Given the description of an element on the screen output the (x, y) to click on. 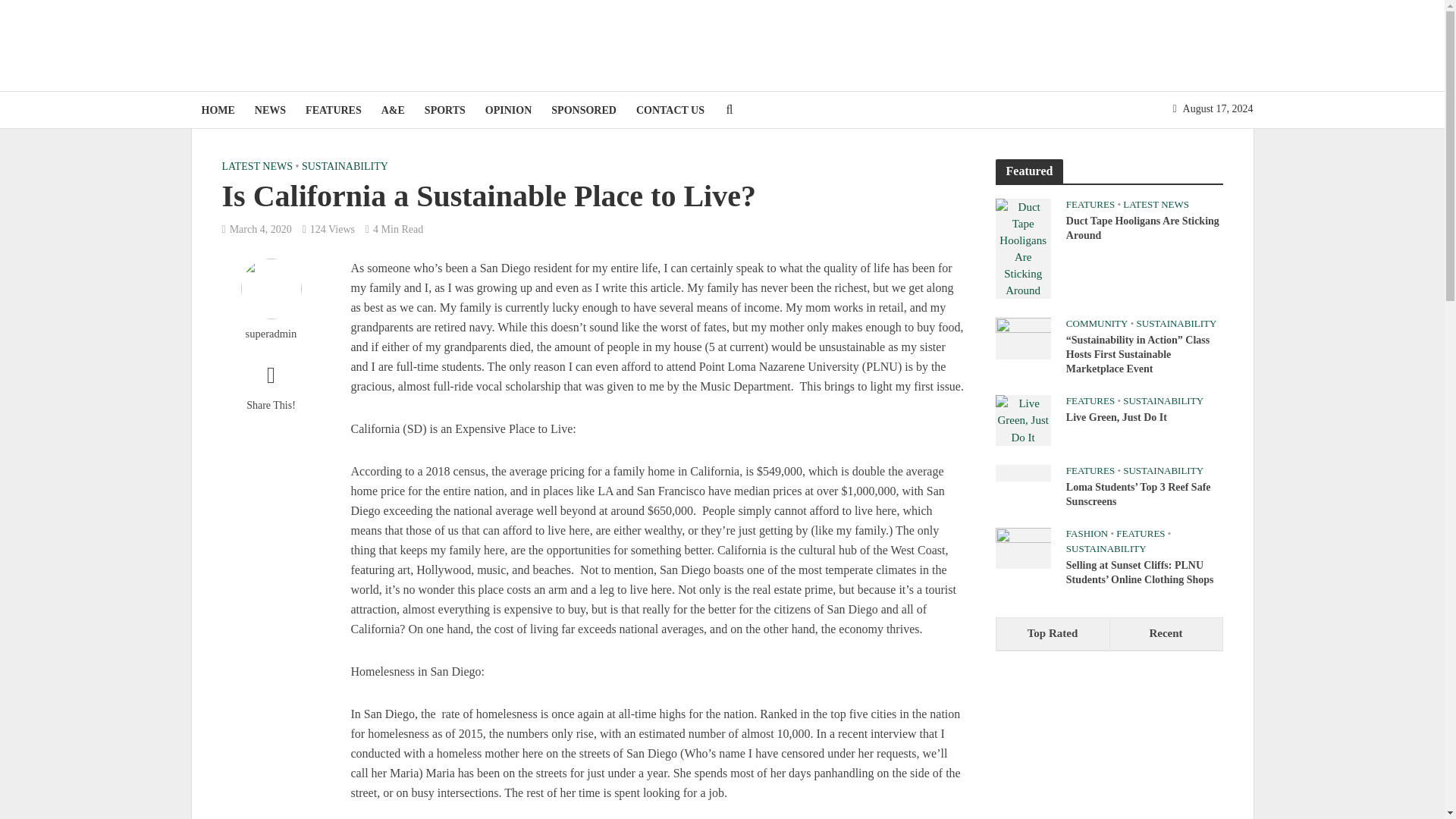
Duct Tape Hooligans Are Sticking Around (1021, 247)
NEWS (269, 110)
HOME (217, 110)
SUSTAINABILITY (344, 167)
SPONSORED (583, 110)
superadmin (270, 333)
OPINION (508, 110)
Live Green, Just Do It (1021, 419)
LATEST NEWS (256, 167)
CONTACT US (670, 110)
